Given the description of an element on the screen output the (x, y) to click on. 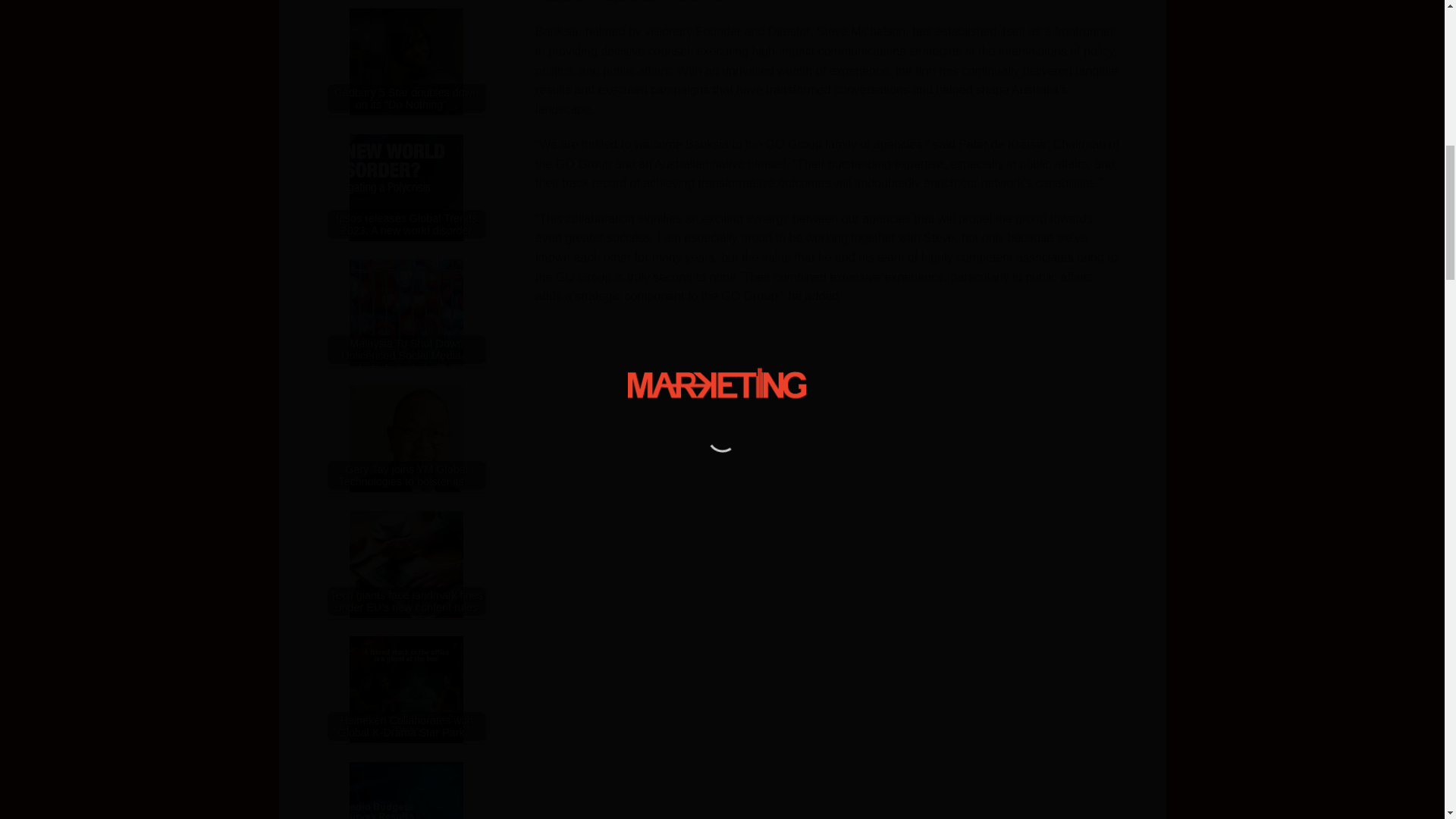
Ipsos releases Global Trends 2023: A new world disorder (406, 191)
